Given the description of an element on the screen output the (x, y) to click on. 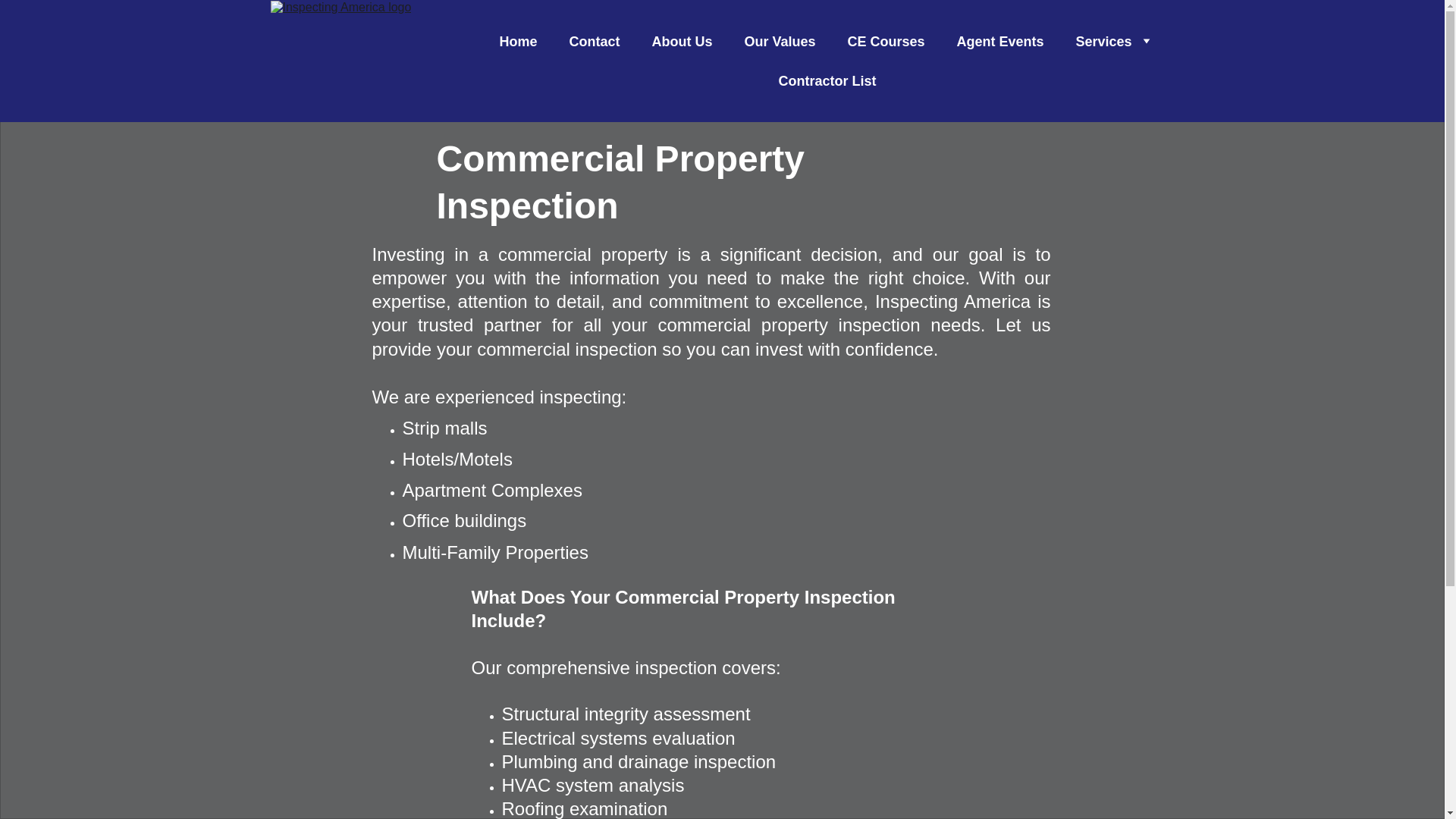
Agent Events (999, 40)
Contractor List (826, 80)
About Us (680, 40)
CE Courses (885, 40)
Contact (594, 40)
Home (518, 40)
Our Values (779, 40)
